Given the description of an element on the screen output the (x, y) to click on. 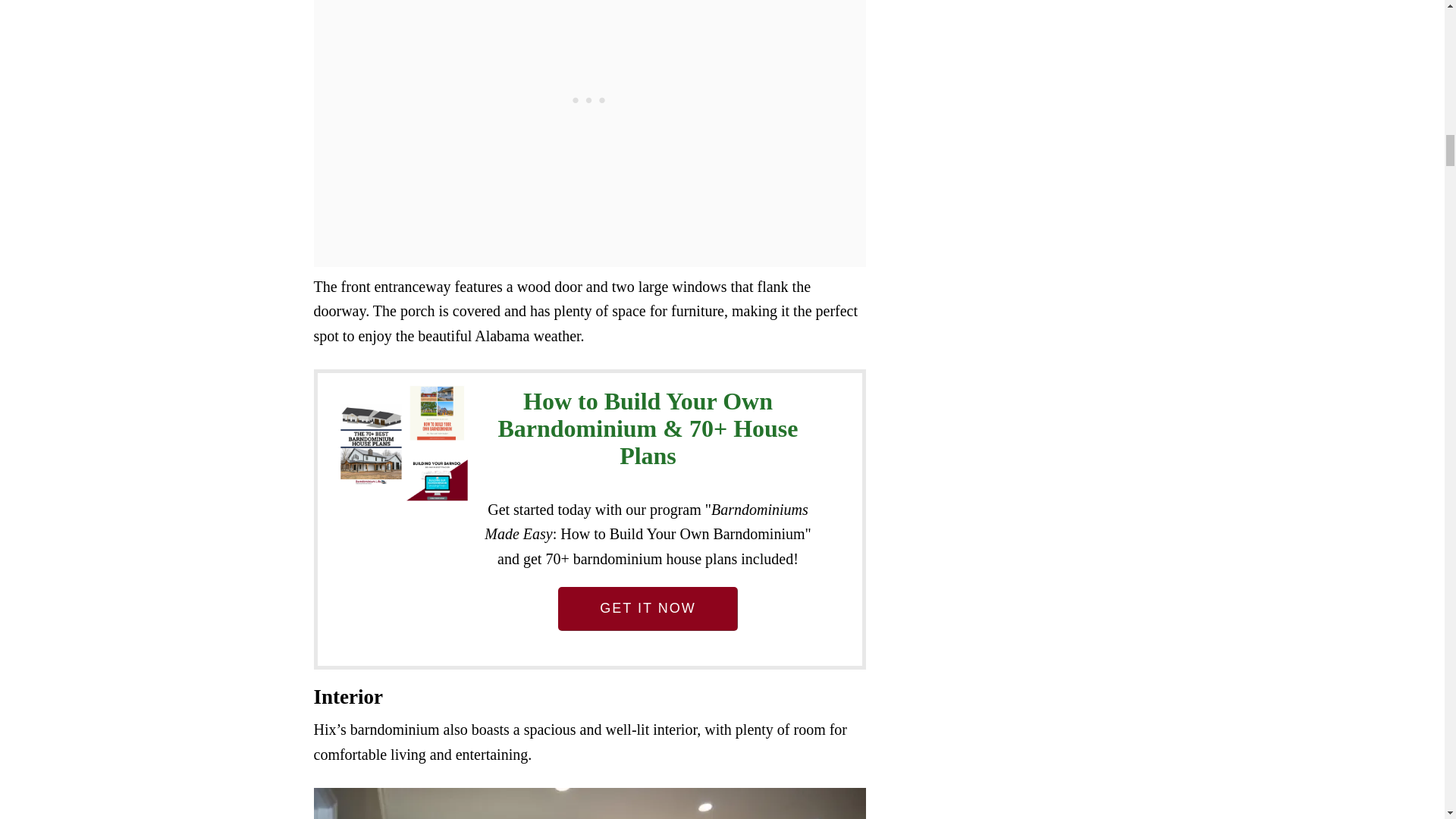
GET IT NOW (646, 608)
Barndominium Program All Three (404, 447)
